Given the description of an element on the screen output the (x, y) to click on. 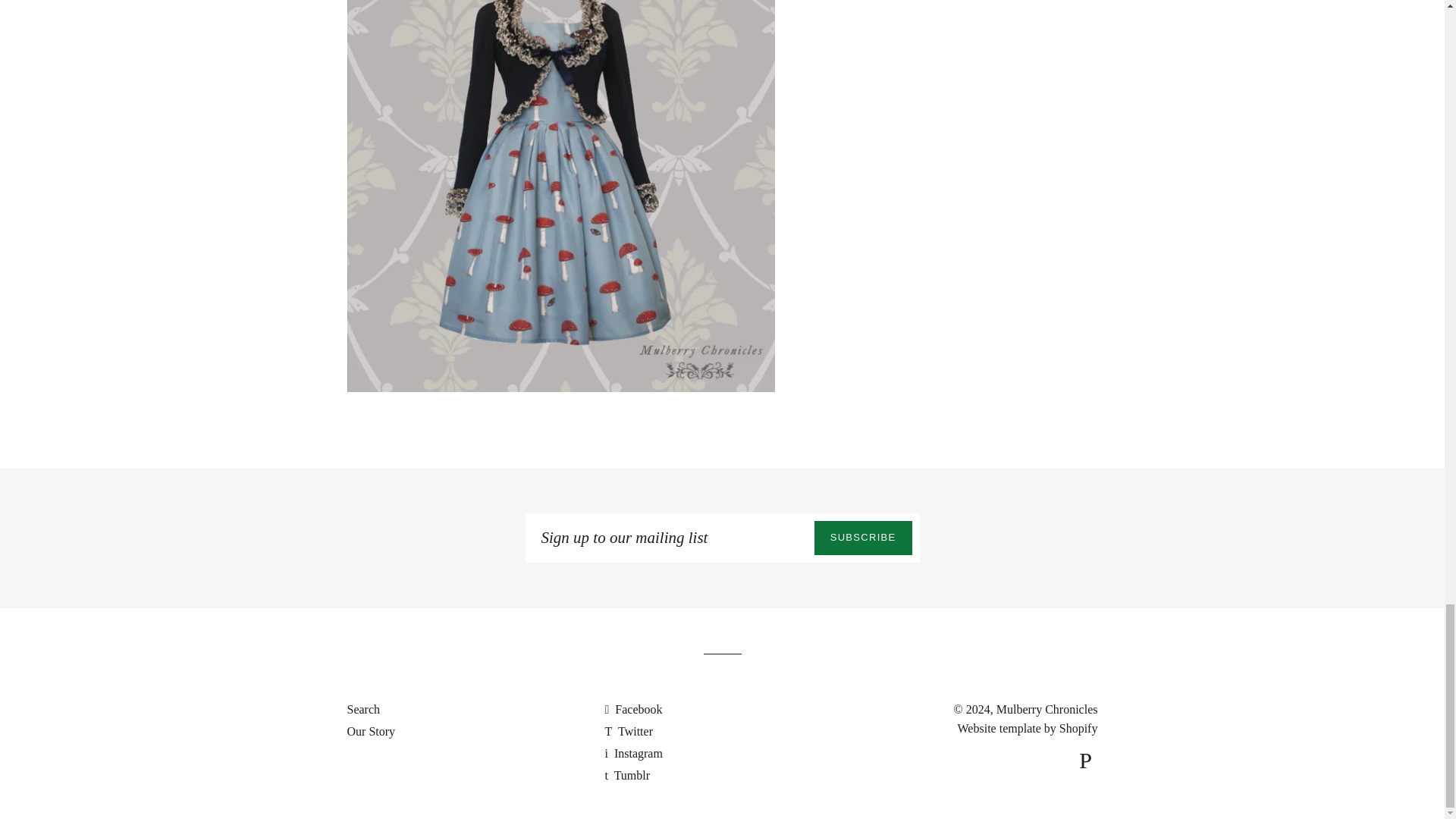
Mulberry Chronicles on Facebook (633, 708)
Mulberry Chronicles on Twitter (628, 730)
Mulberry Chronicles on Instagram (633, 753)
Mulberry Chronicles on Tumblr (626, 775)
